Given the description of an element on the screen output the (x, y) to click on. 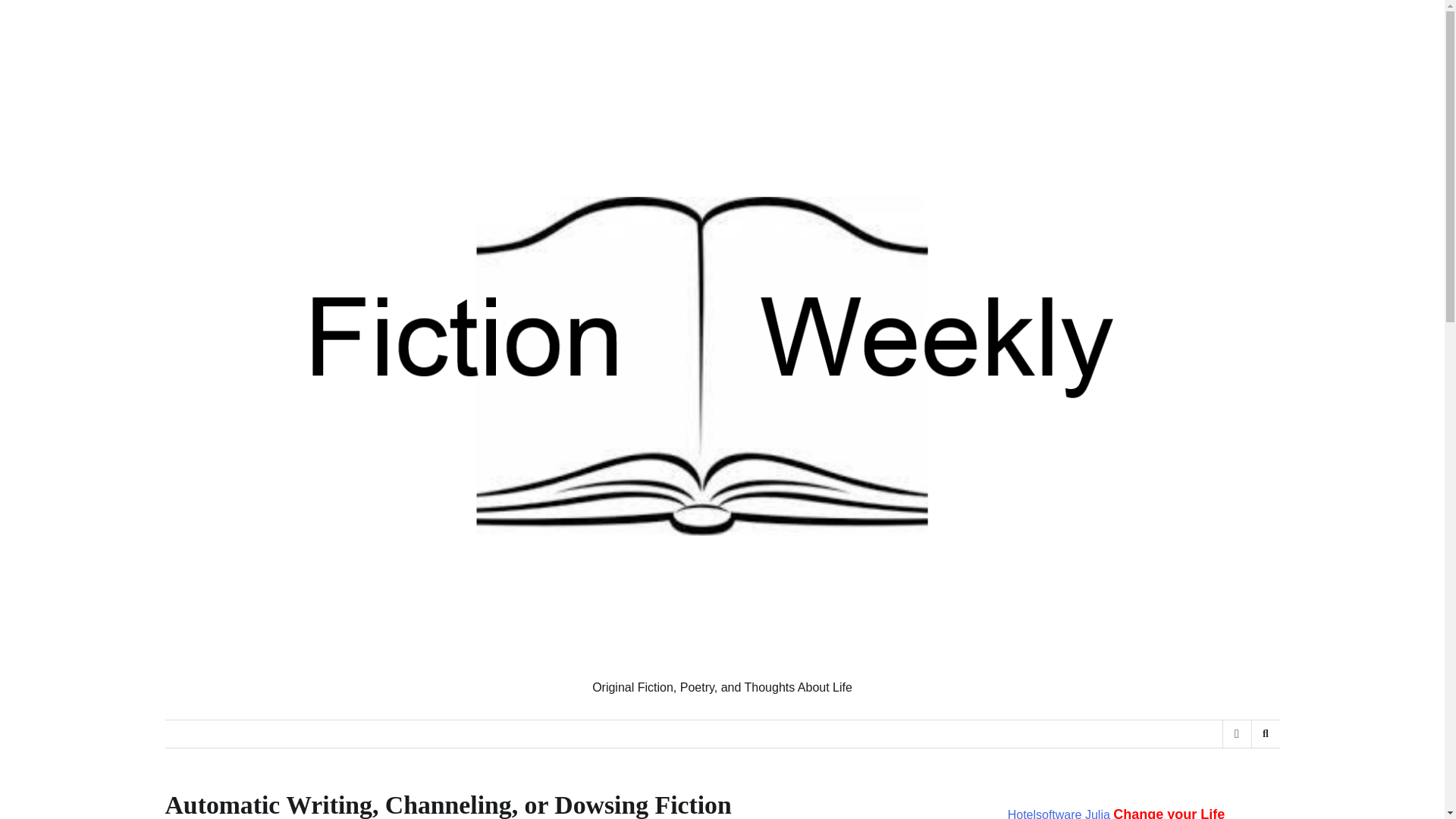
View Random Post (1236, 733)
Search (1240, 773)
Hotelsoftware Julia (1058, 813)
Search (1264, 733)
